Given the description of an element on the screen output the (x, y) to click on. 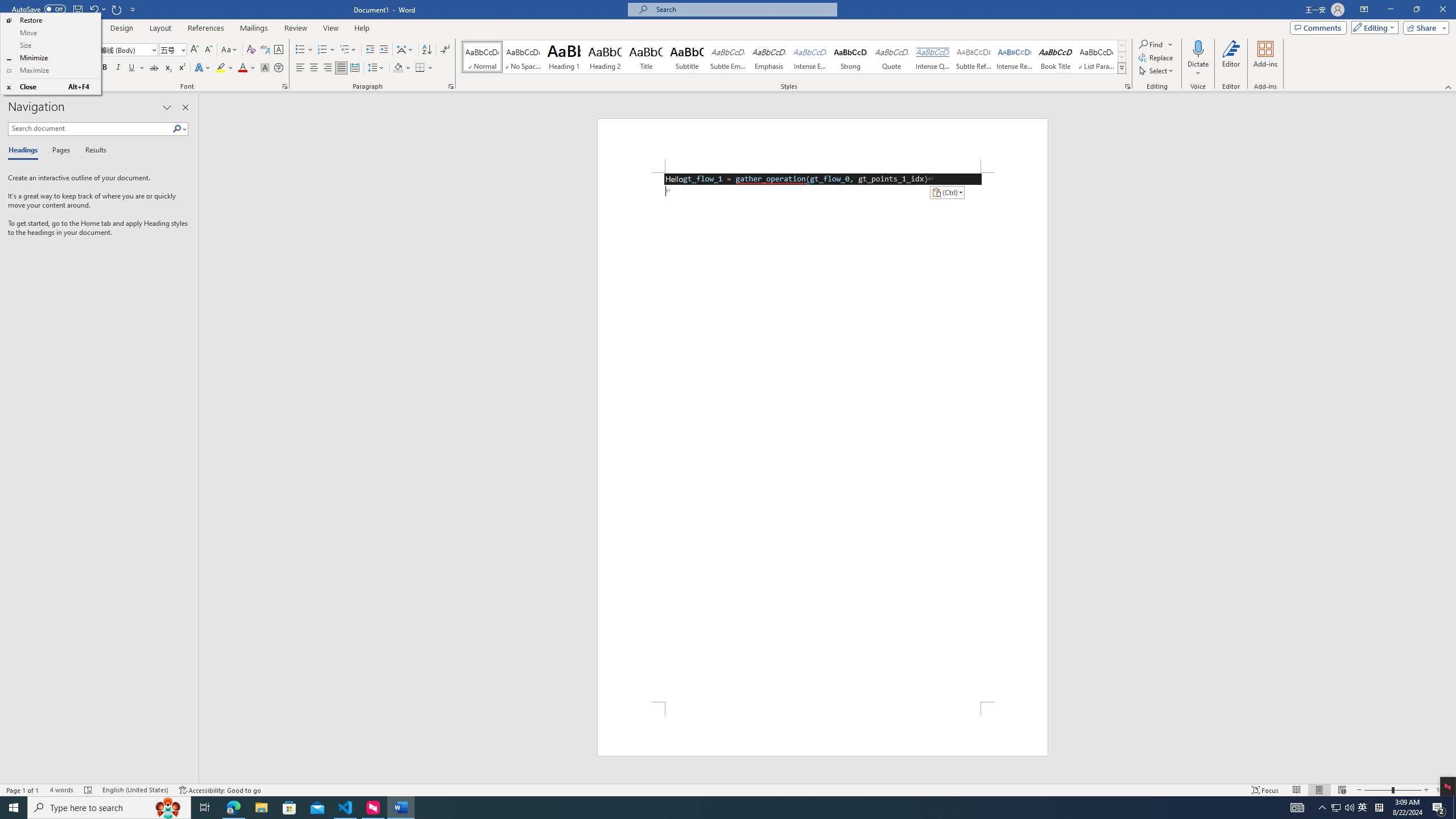
Quote (891, 56)
Page Number Page 1 of 1 (22, 790)
Subtle Emphasis (727, 56)
